Given the description of an element on the screen output the (x, y) to click on. 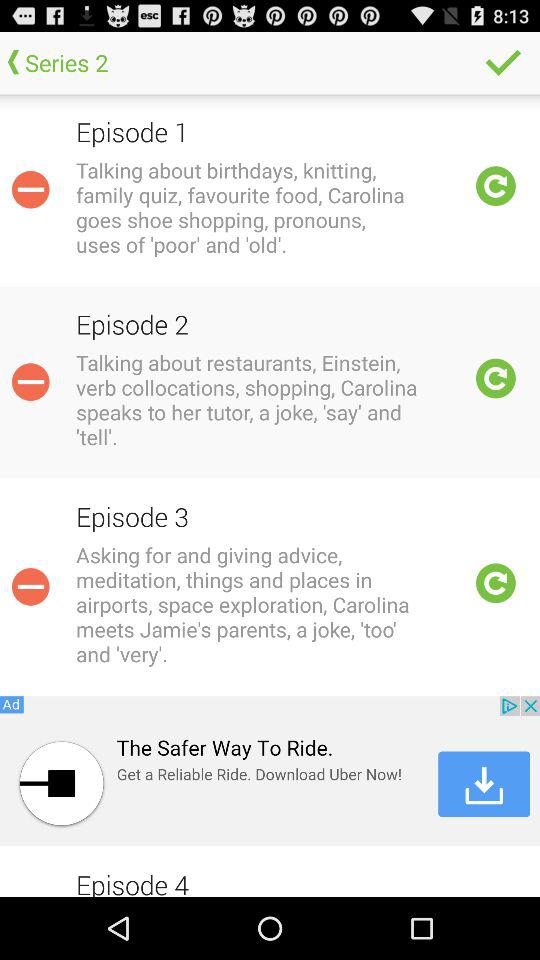
download uber (270, 771)
